Given the description of an element on the screen output the (x, y) to click on. 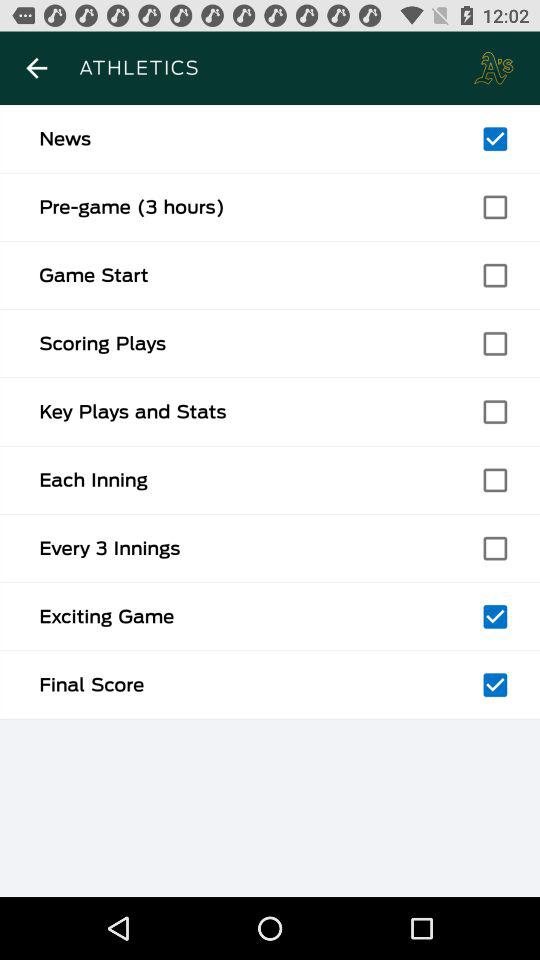
open icon next to athletics app (36, 68)
